Given the description of an element on the screen output the (x, y) to click on. 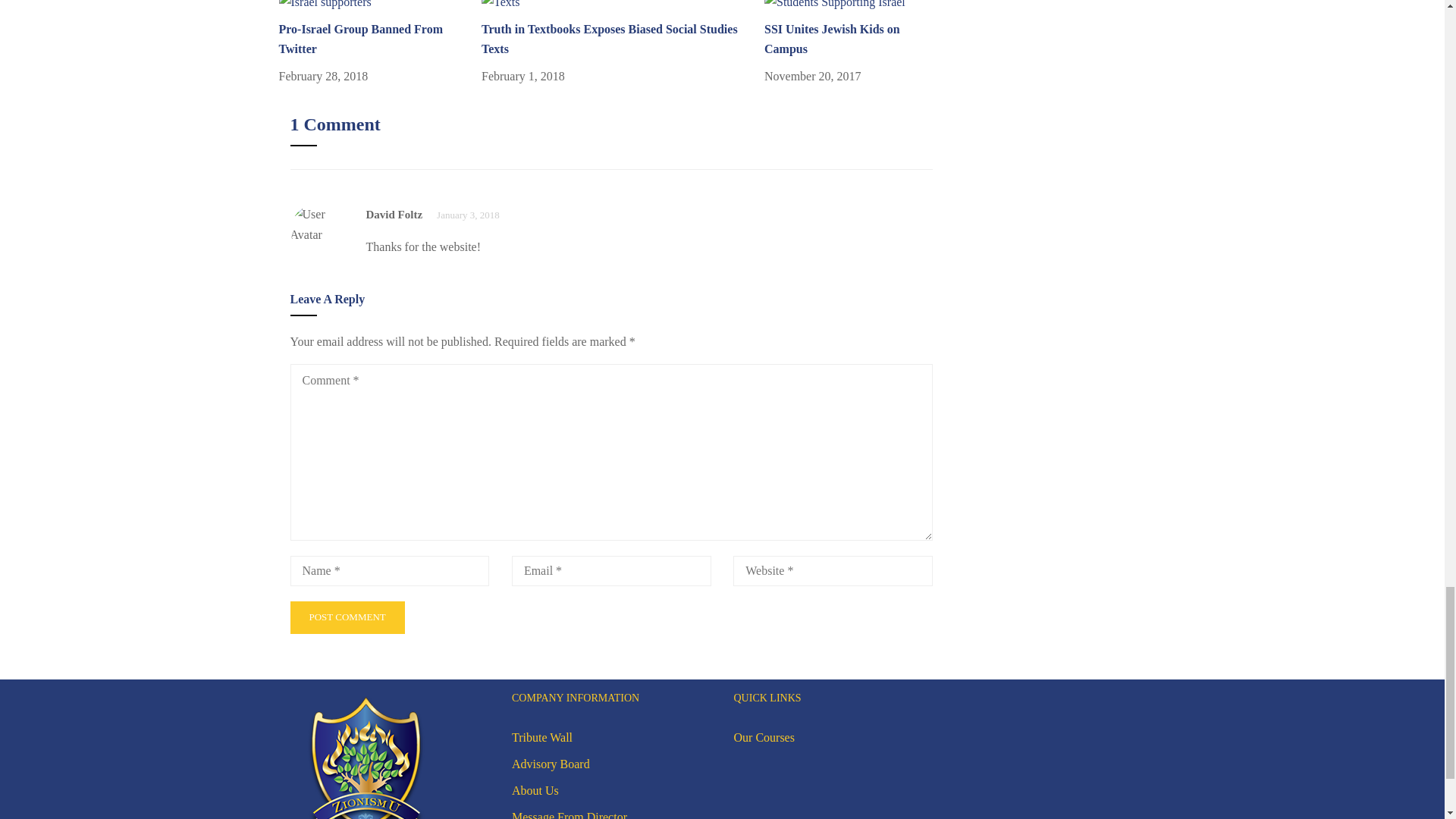
Israel supporters (325, 6)
Post Comment (346, 617)
Pro-Israel Group Banned From Twitter (325, 3)
